Given the description of an element on the screen output the (x, y) to click on. 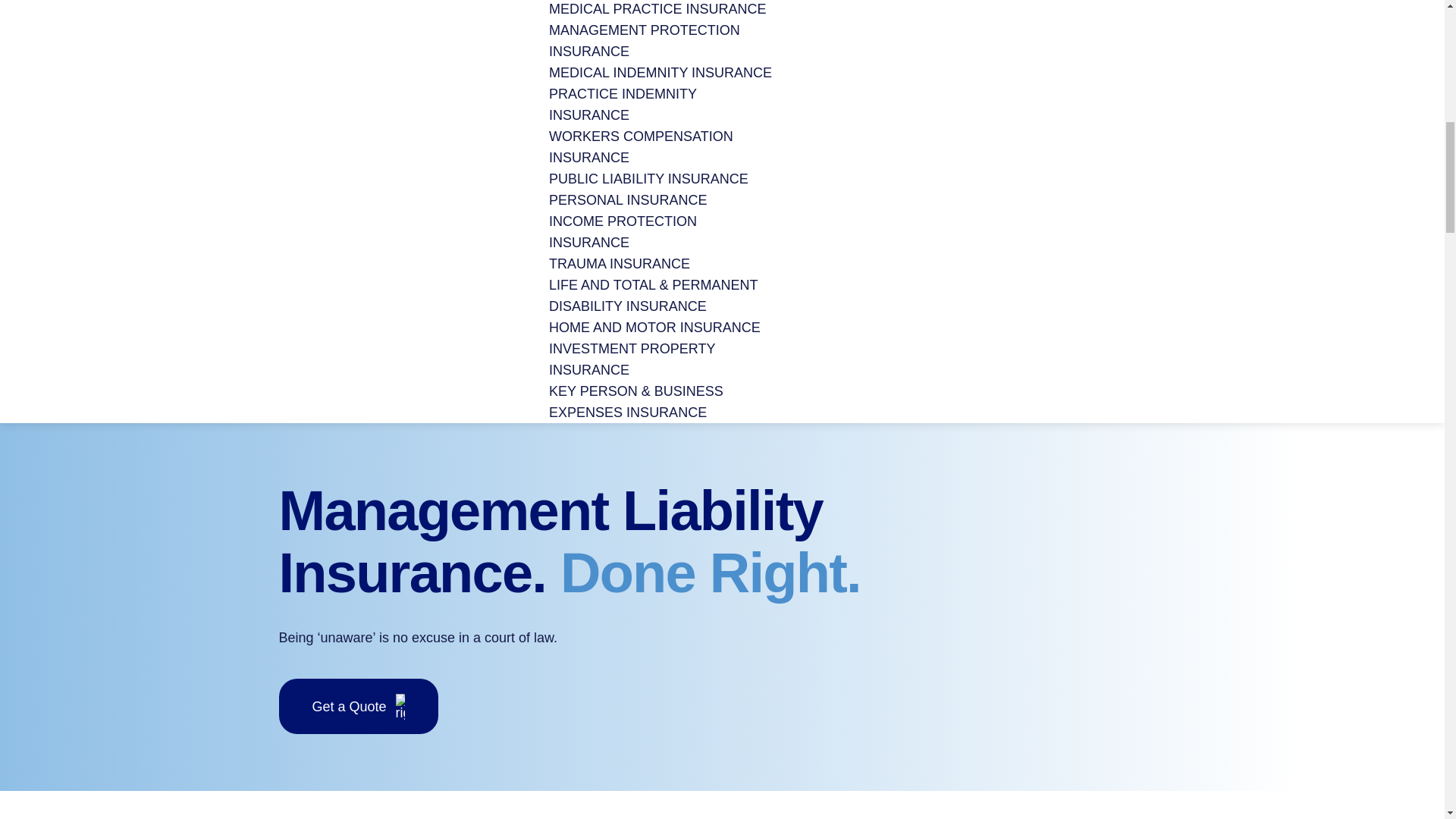
MANAGEMENT PROTECTION INSURANCE (643, 40)
INCOME PROTECTION INSURANCE (622, 231)
PRACTICE INDEMNITY INSURANCE (622, 104)
PERSONAL INSURANCE (627, 200)
HOME AND MOTOR INSURANCE (654, 327)
TRAUMA INSURANCE (619, 263)
WORKERS COMPENSATION INSURANCE (640, 146)
PUBLIC LIABILITY INSURANCE (648, 178)
MEDICAL PRACTICE INSURANCE (656, 8)
MEDICAL INDEMNITY INSURANCE (659, 72)
